Given the description of an element on the screen output the (x, y) to click on. 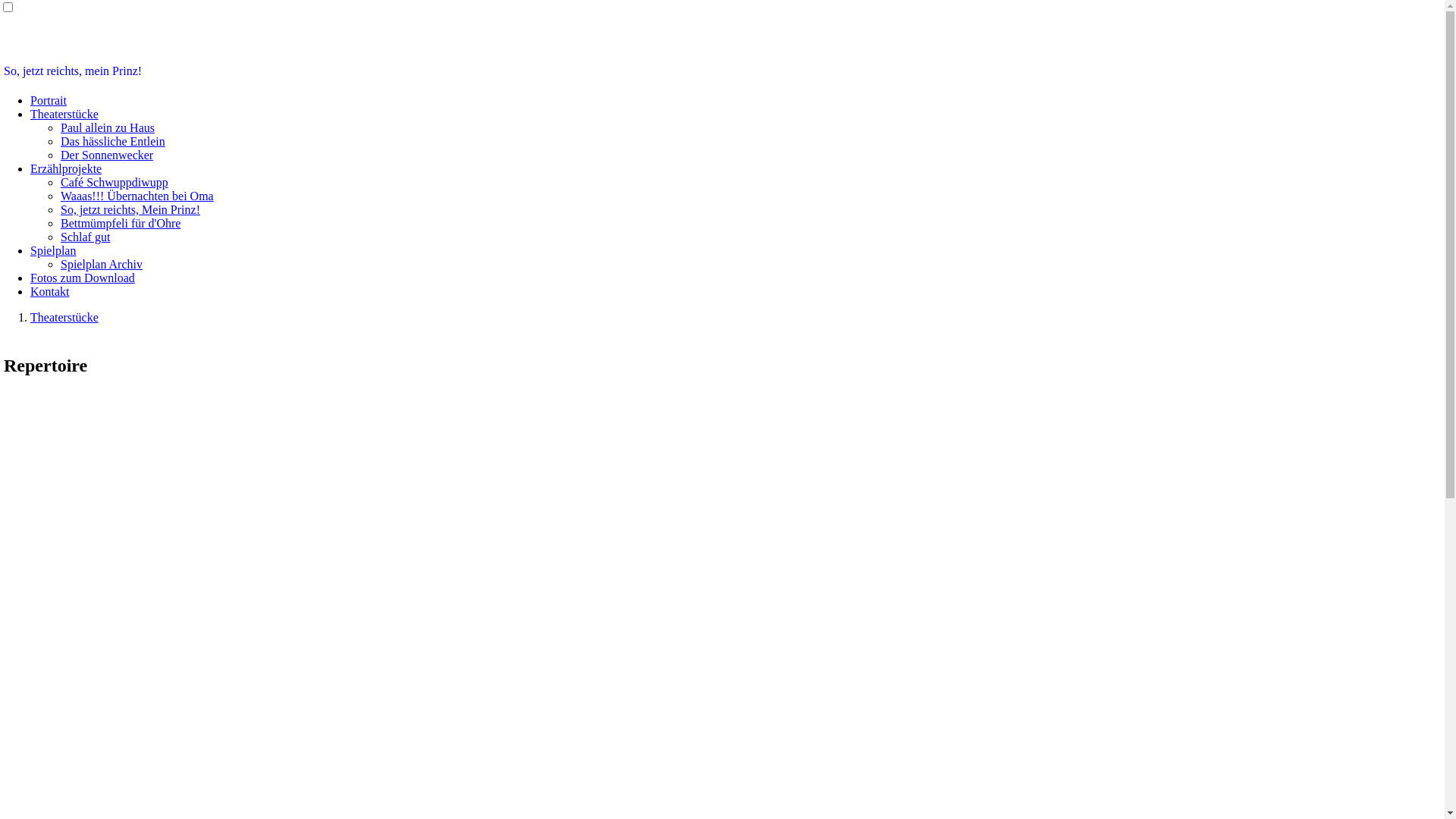
Paul allein zu Haus Element type: text (107, 127)
So, jetzt reichts, Mein Prinz! Element type: text (130, 209)
Kontakt Element type: text (49, 291)
Schlaf gut Element type: text (84, 236)
Fotos zum Download Element type: text (82, 277)
So, jetzt reichts, mein Prinz! Element type: text (72, 70)
Spielplan Element type: text (52, 250)
Der Sonnenwecker Element type: text (106, 154)
Portrait Element type: text (48, 100)
Spielplan Archiv Element type: text (101, 263)
